Given the description of an element on the screen output the (x, y) to click on. 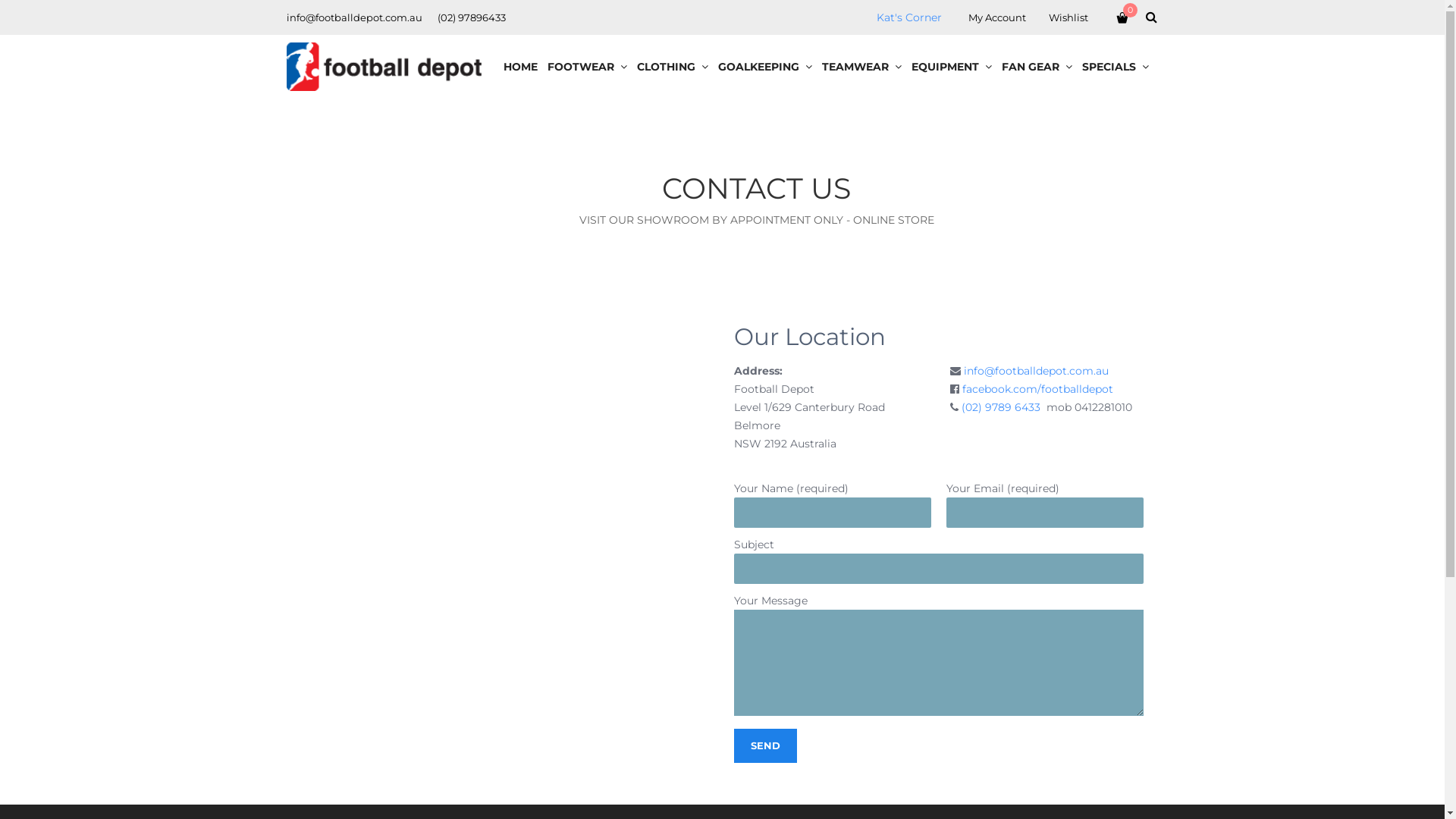
Kat's Corner Element type: text (908, 17)
(02) 97896 Element type: text (461, 17)
GOALKEEPING Element type: text (764, 66)
33 Element type: text (499, 17)
4 Element type: text (491, 17)
HOME Element type: text (520, 66)
(02) 9789 6433 Element type: text (1000, 407)
FOOTWEAR Element type: text (587, 66)
SPECIALS Element type: text (1114, 66)
My Account Element type: text (997, 16)
info@footballdepot.com.au Element type: text (354, 17)
FAN GEAR Element type: text (1036, 66)
Wishlist Element type: text (1068, 16)
CLOTHING Element type: text (672, 66)
info@footballdepot.com.au Element type: text (1035, 370)
Send Element type: text (765, 745)
facebook.com/footballdepot Element type: text (1036, 388)
TEAMWEAR Element type: text (861, 66)
EQUIPMENT Element type: text (951, 66)
